Given the description of an element on the screen output the (x, y) to click on. 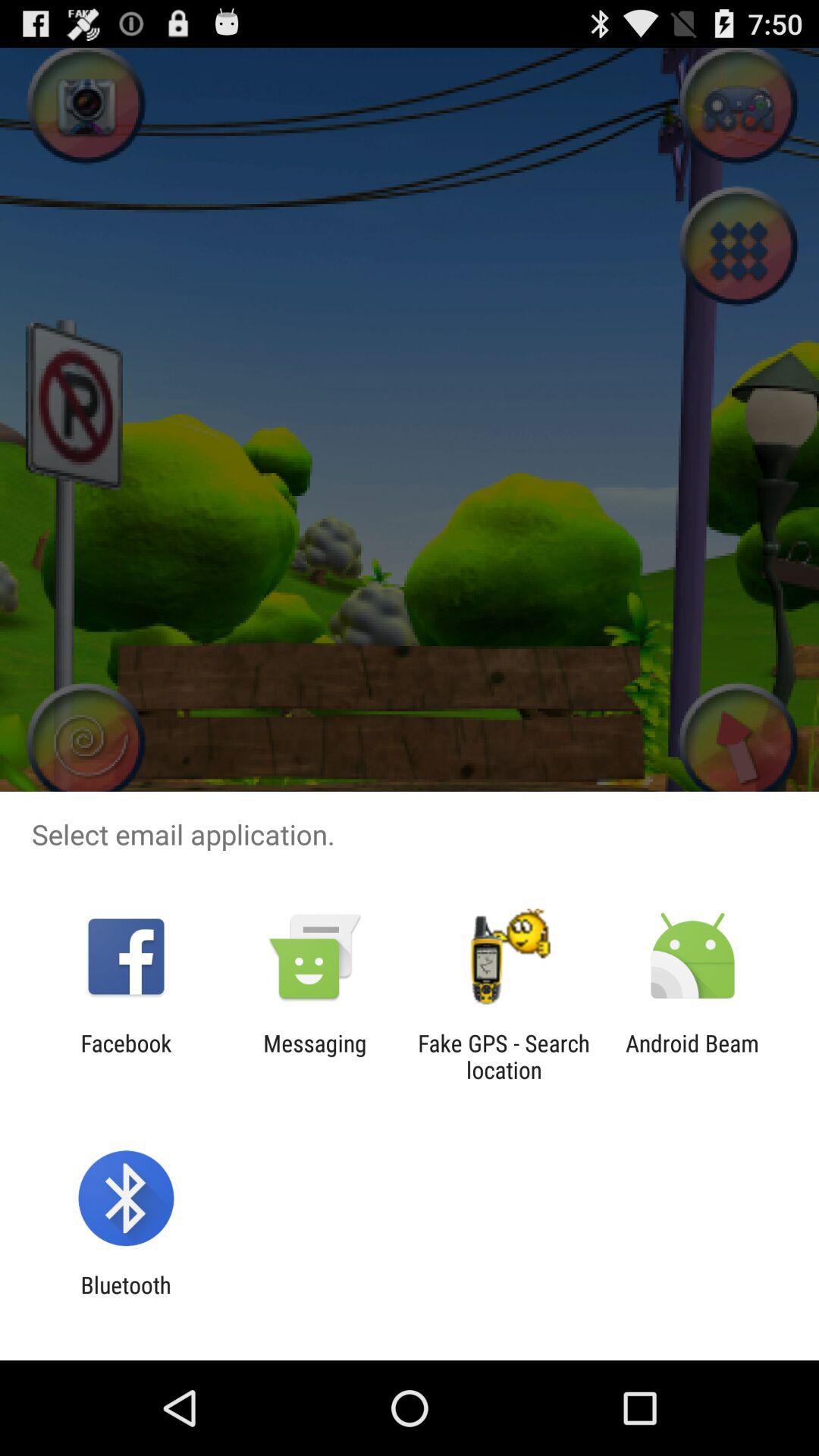
turn off fake gps search app (503, 1056)
